Given the description of an element on the screen output the (x, y) to click on. 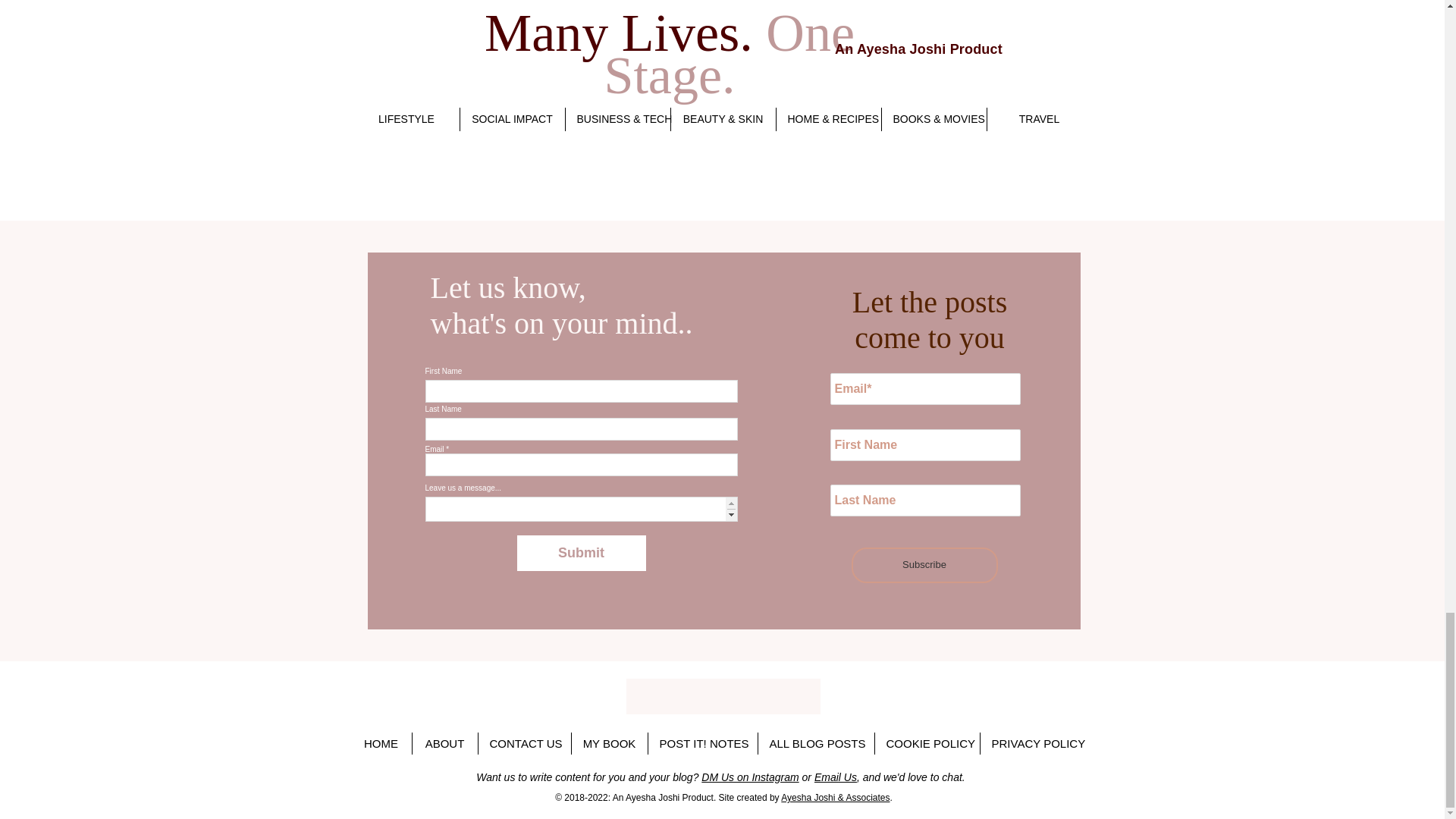
CONTACT US (523, 743)
DM Us on Instagram (749, 776)
POST IT! NOTES (702, 743)
MY BOOK (609, 743)
Submit (581, 552)
HOME (380, 743)
ALL BLOG POSTS (816, 743)
COOKIE POLICY (927, 743)
Email Us (835, 776)
PRIVACY POLICY (1034, 743)
